Given the description of an element on the screen output the (x, y) to click on. 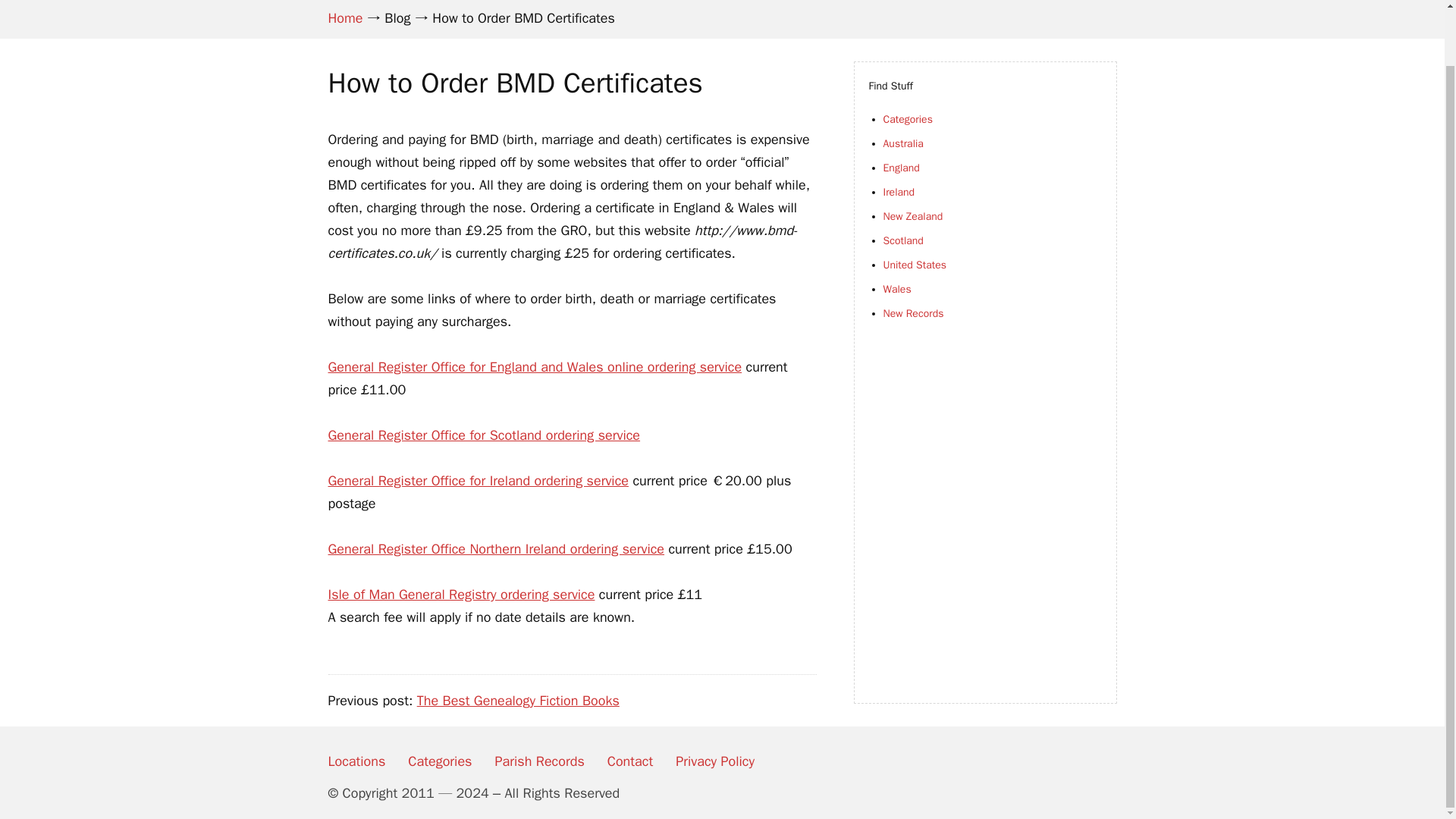
Contact (629, 761)
Ireland (898, 192)
Privacy Policy (714, 761)
United States (914, 264)
Categories (439, 761)
Australia (902, 143)
Locations (356, 761)
General Register Office Northern Ireland ordering service (495, 548)
Scotland (902, 240)
New Zealand (912, 215)
Isle of Man General Registry ordering service (460, 594)
The Best Genealogy Fiction Books (518, 700)
Categories (906, 119)
General Register Office for Ireland ordering service (477, 480)
